Given the description of an element on the screen output the (x, y) to click on. 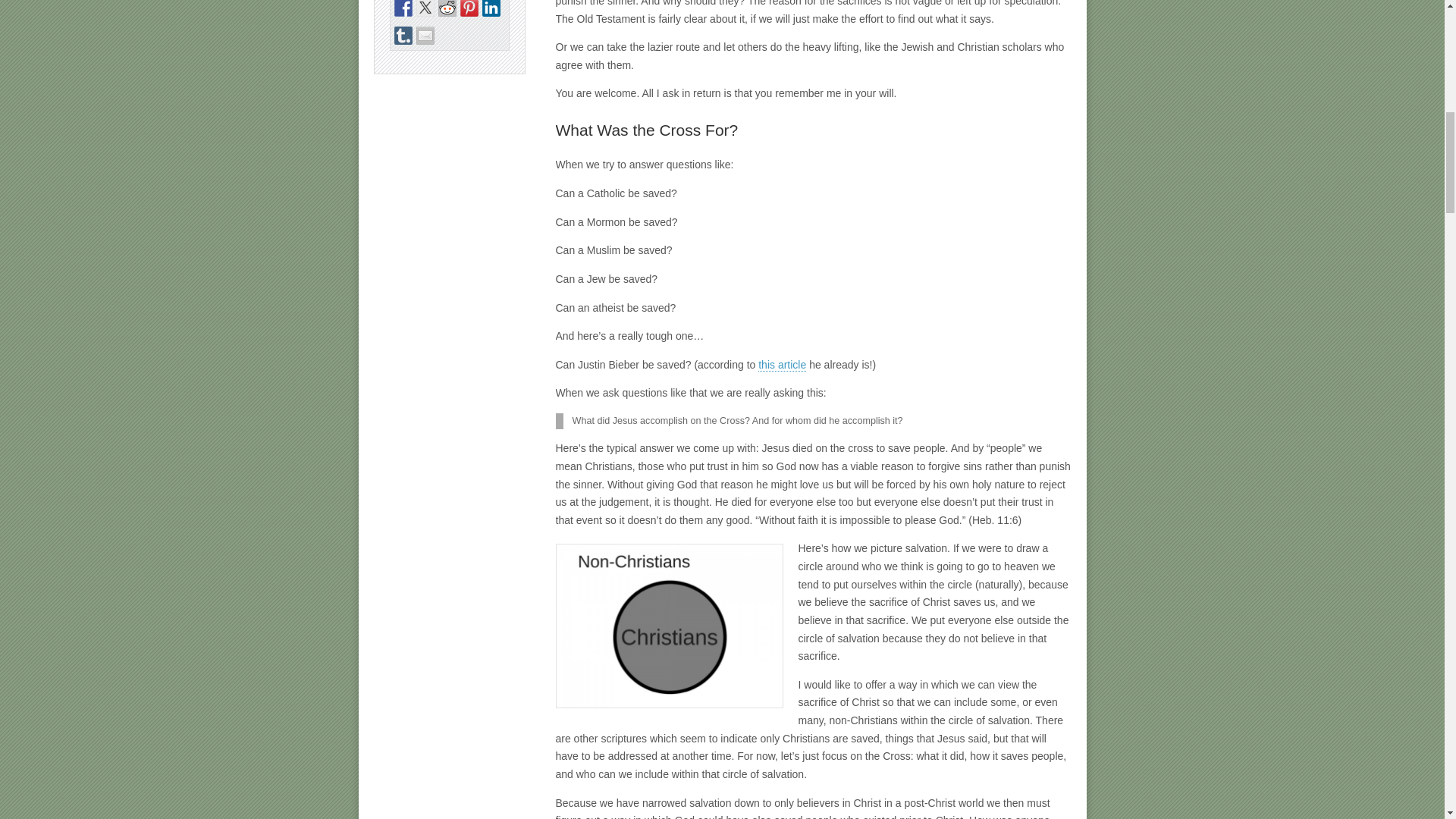
this article (782, 364)
